Given the description of an element on the screen output the (x, y) to click on. 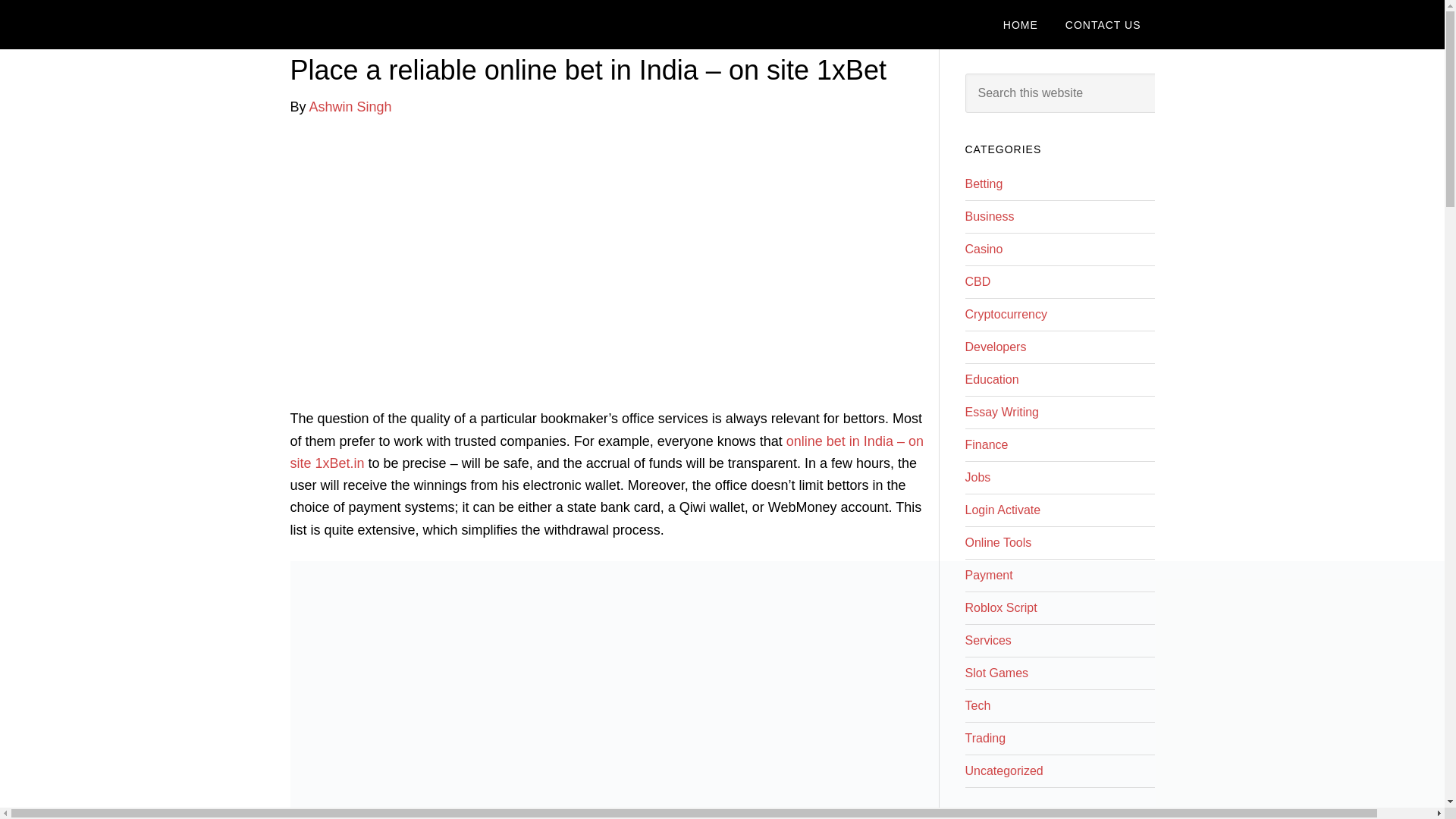
Roblox Script (999, 607)
Uncategorized (1002, 770)
Tech (976, 705)
Payment (987, 574)
Developers (994, 346)
Finance (985, 444)
Casino (983, 248)
Ashwin Singh (349, 106)
Trading (984, 738)
Services (986, 640)
